Given the description of an element on the screen output the (x, y) to click on. 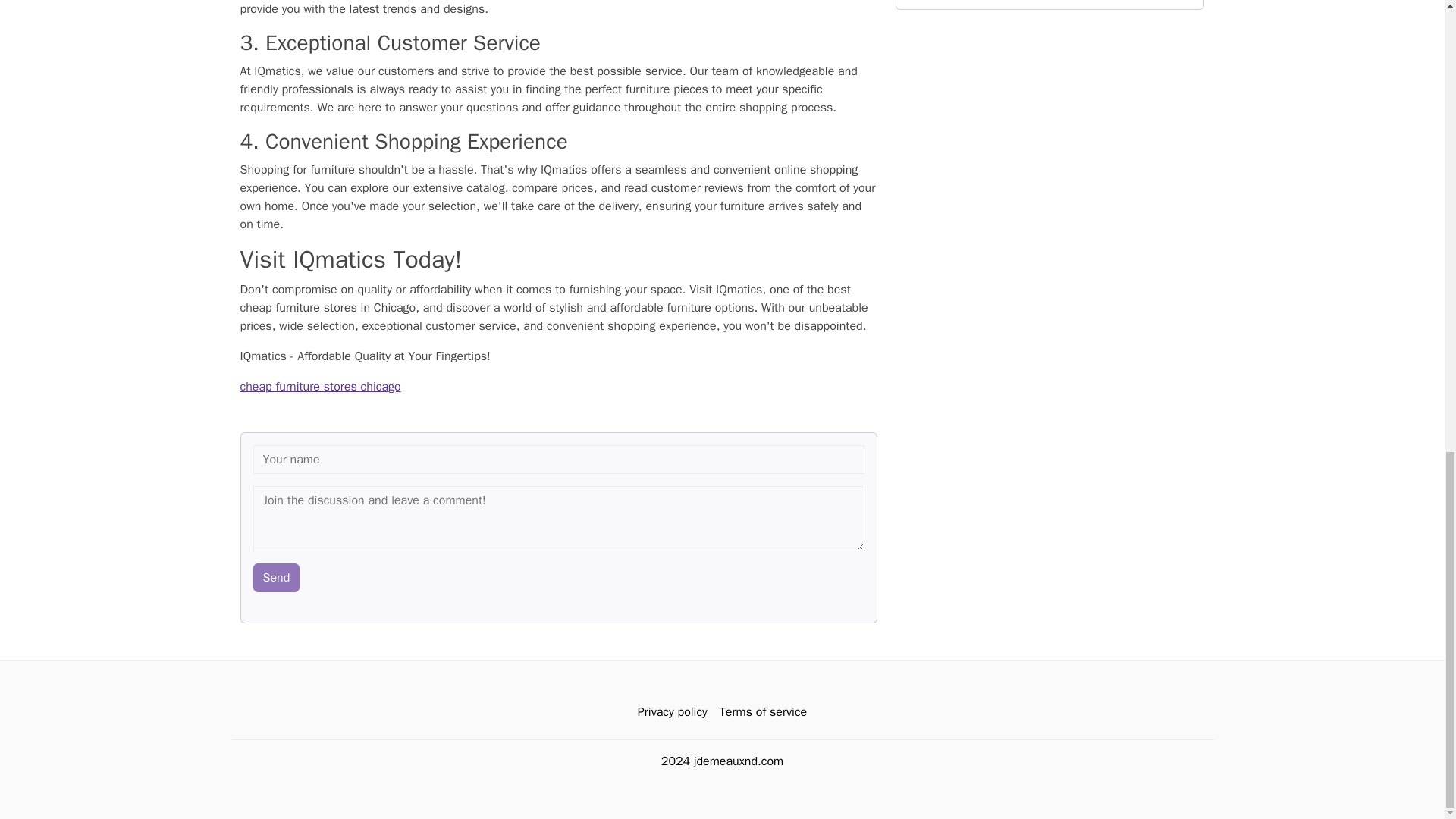
Send (276, 577)
cheap furniture stores chicago (320, 386)
Send (276, 577)
Terms of service (762, 711)
Privacy policy (672, 711)
